Given the description of an element on the screen output the (x, y) to click on. 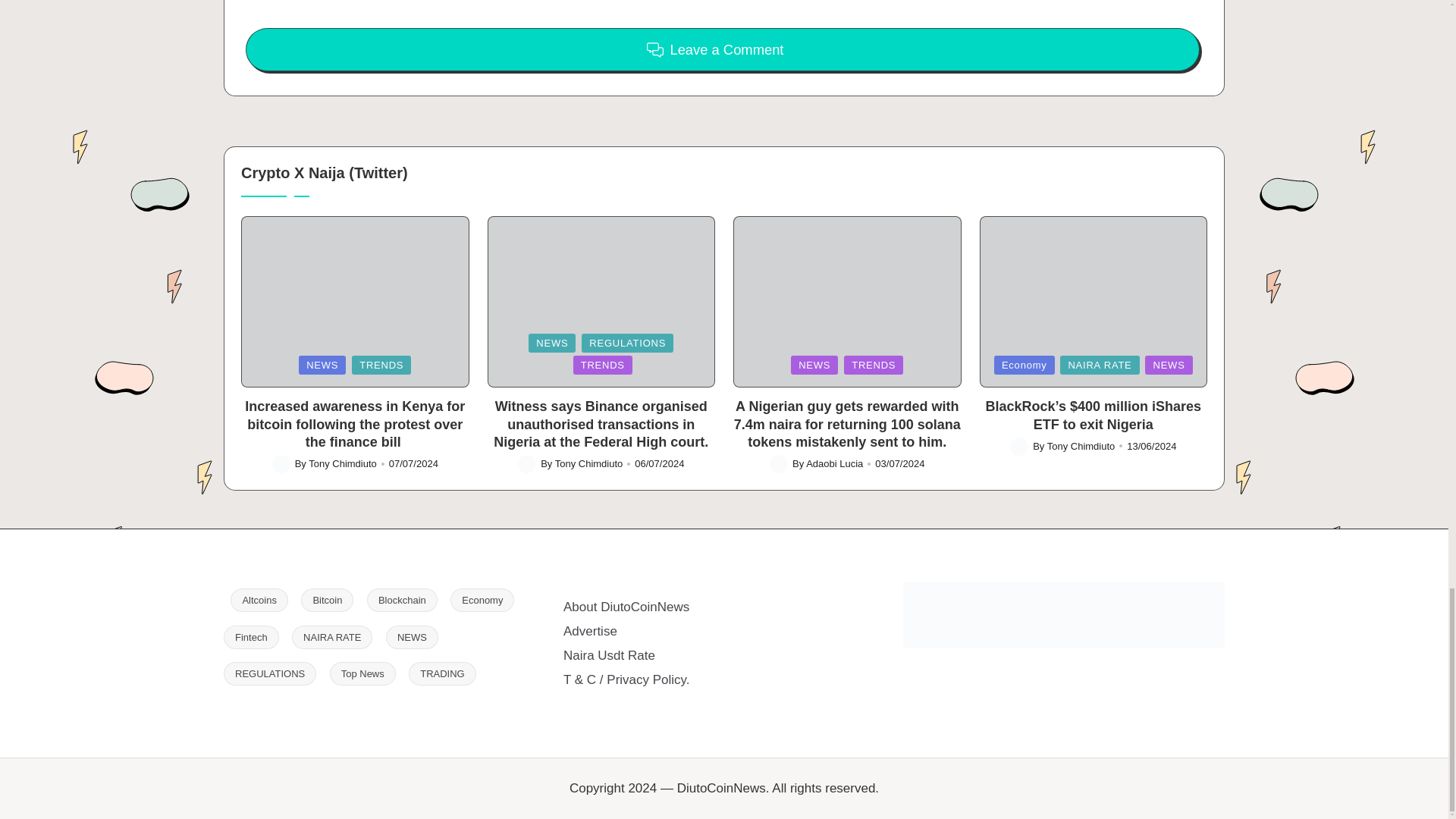
View all posts by Tony Chimdiuto (588, 463)
View all posts by Tony Chimdiuto (1080, 446)
View all posts by Adaobi Lucia (834, 463)
View all posts by Tony Chimdiuto (342, 463)
